Given the description of an element on the screen output the (x, y) to click on. 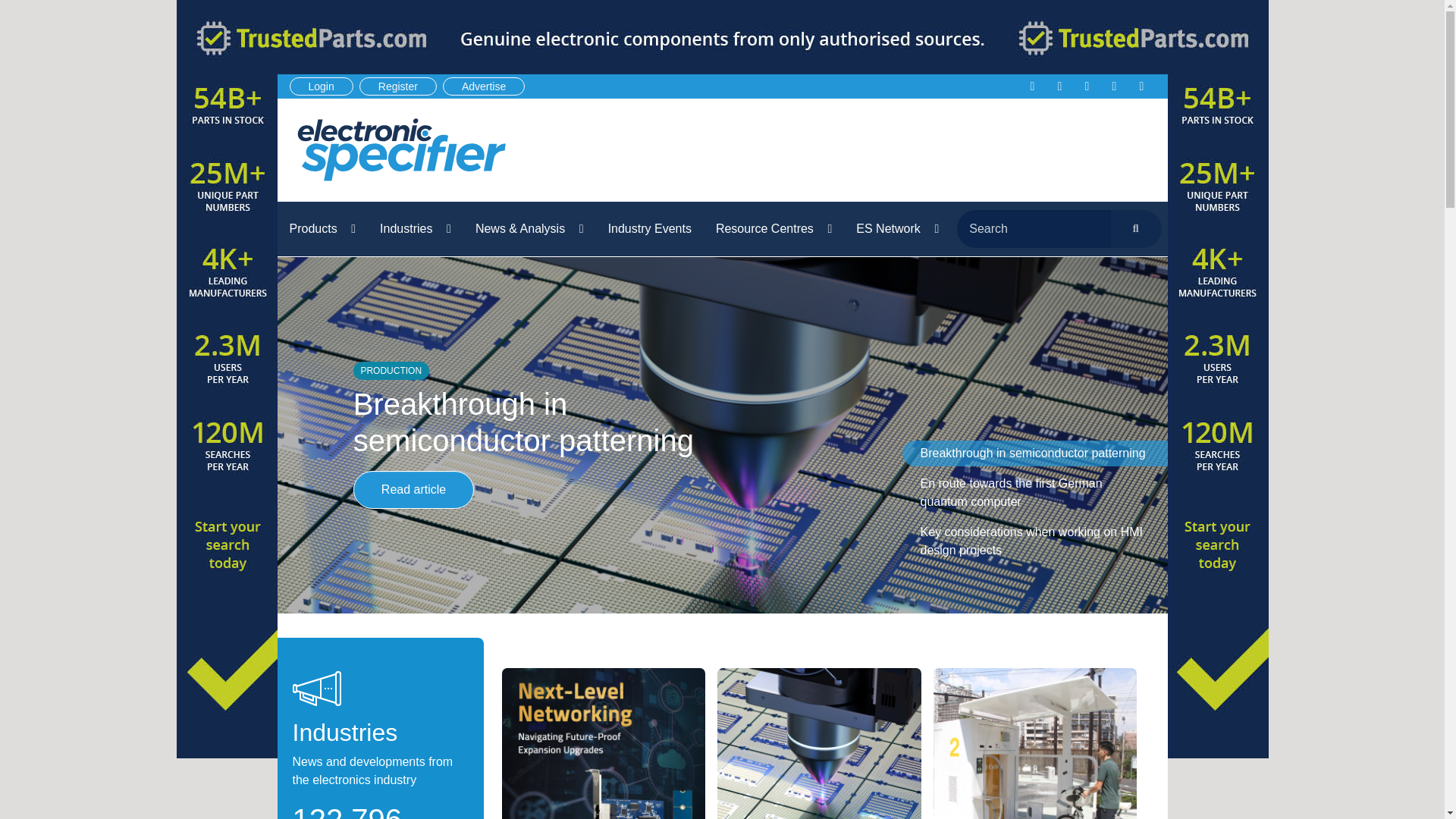
Products (323, 228)
Register (397, 85)
Login (321, 85)
3rd party ad content (874, 150)
Advertise (483, 85)
